Given the description of an element on the screen output the (x, y) to click on. 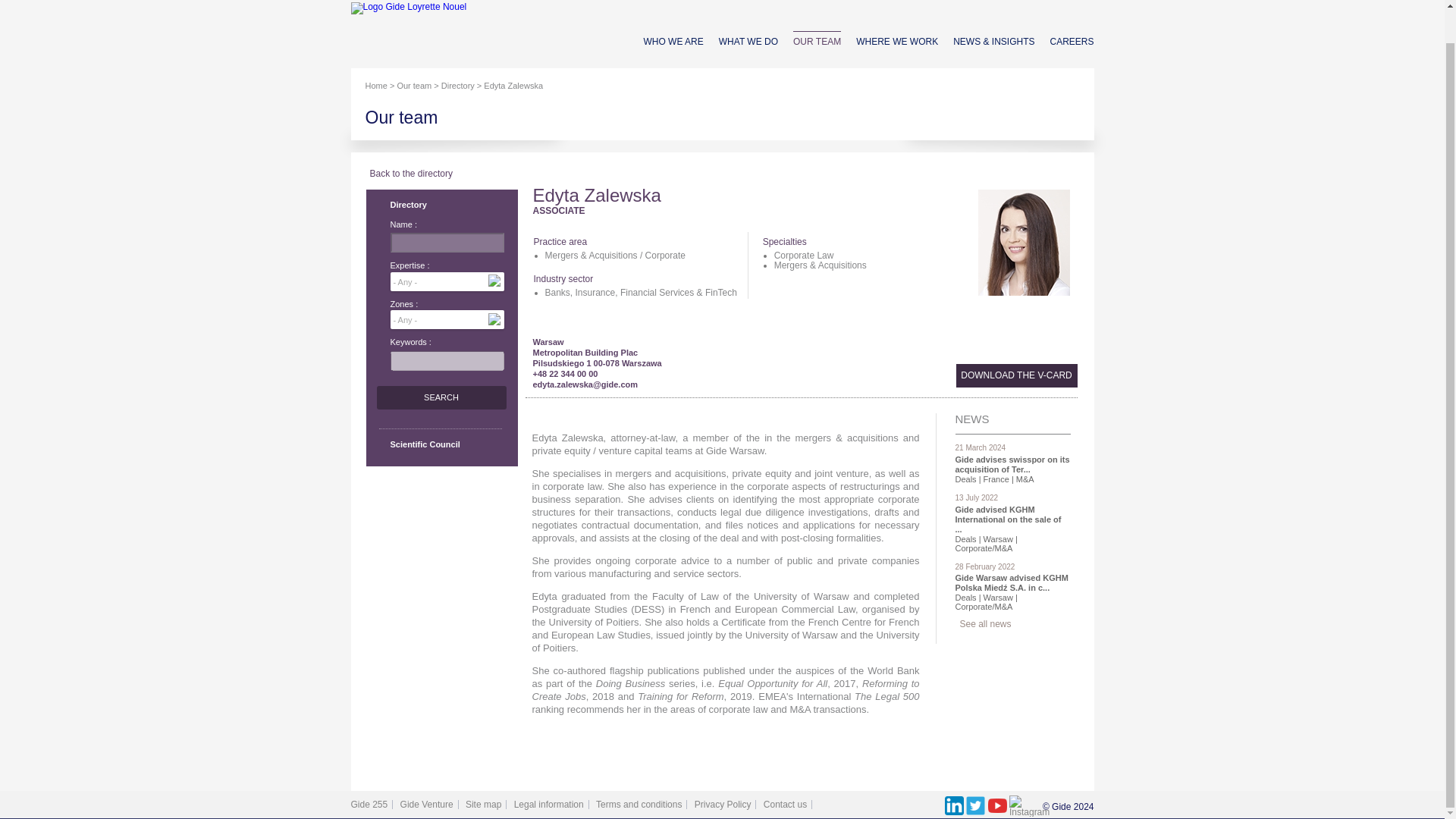
OUR TEAM (817, 40)
WHERE WE WORK (896, 40)
CAREERS (1071, 40)
WHAT WE DO (748, 40)
WHO WE ARE (673, 40)
Search (440, 397)
